Given the description of an element on the screen output the (x, y) to click on. 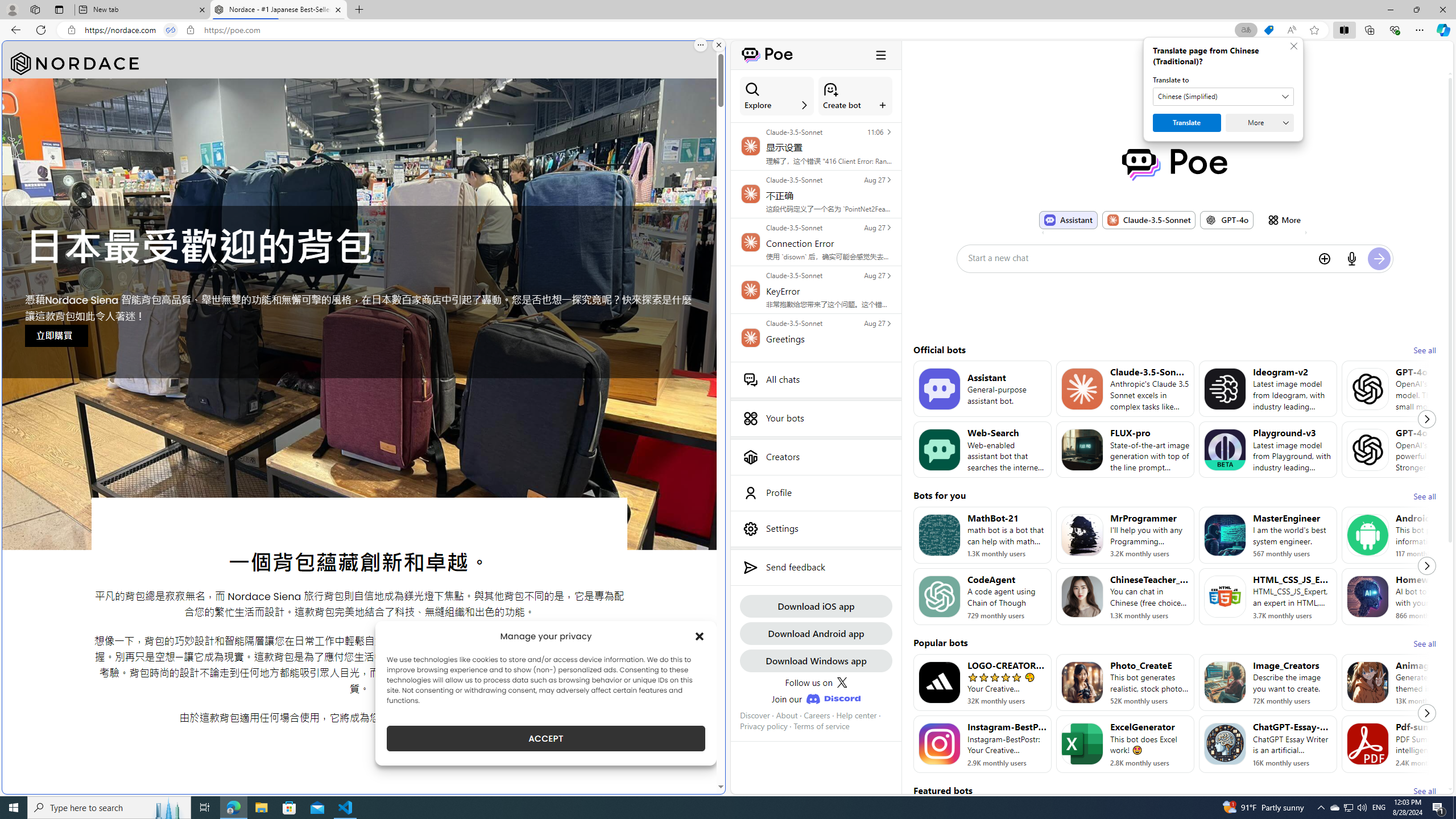
Bot image for Claude-3.5-Sonnet (1081, 388)
Bot image for Image_Creators (1224, 682)
Class: ManageBotsCardSection_searchIcon__laGLi (752, 89)
Bot image for Instagram-BestPost (938, 743)
About (786, 714)
Bot image for ExcelGenerator (1081, 743)
Class: cmplz-close (699, 636)
Tabs in split screen (170, 29)
Bot image for LOGO-CREATOR-AI (938, 682)
